Given the description of an element on the screen output the (x, y) to click on. 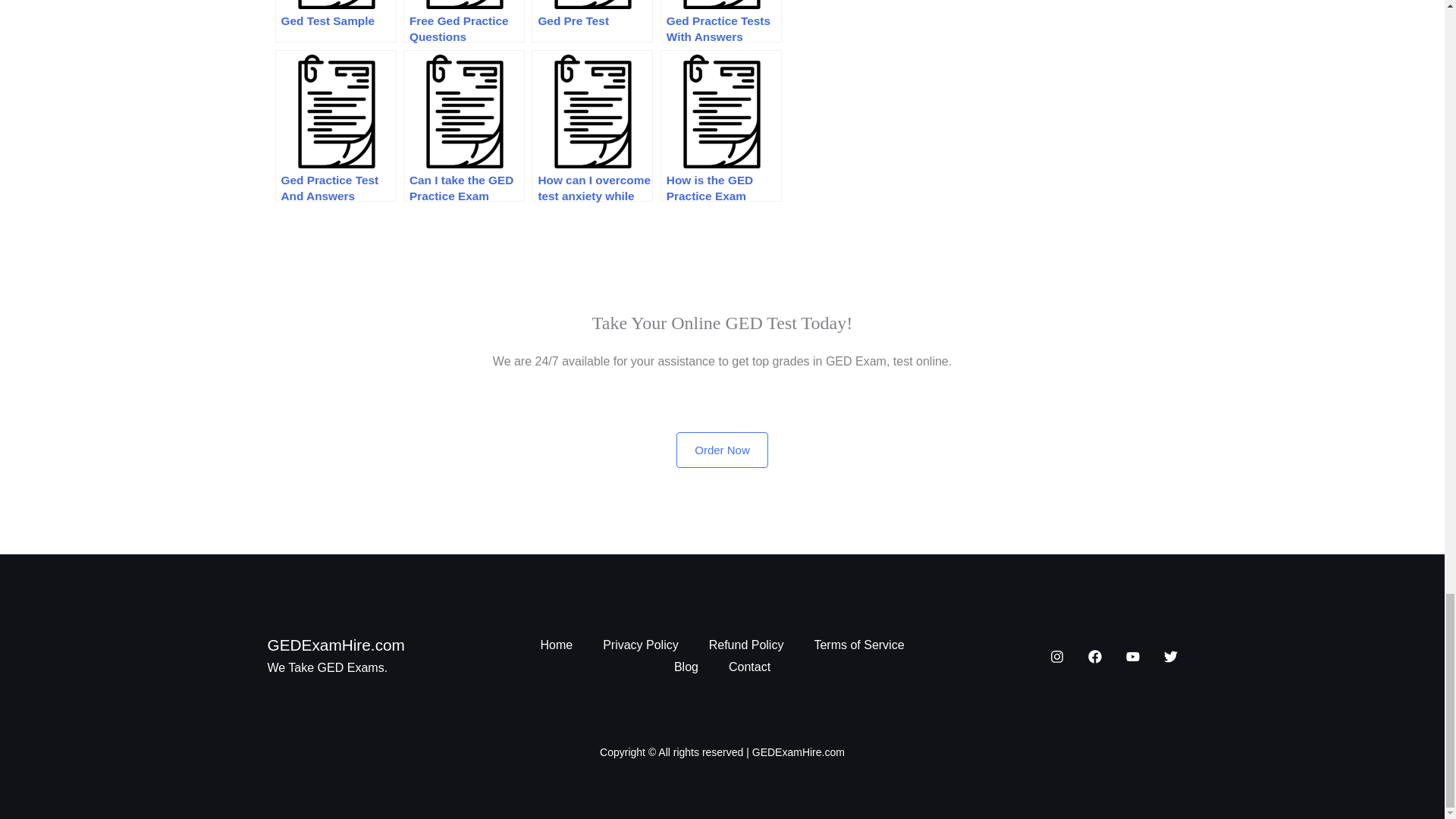
Ged Pre Test (591, 21)
Ged Practice Tests With Answers (721, 21)
Ged Test Sample (335, 21)
Free Ged Practice Questions (463, 21)
